Given the description of an element on the screen output the (x, y) to click on. 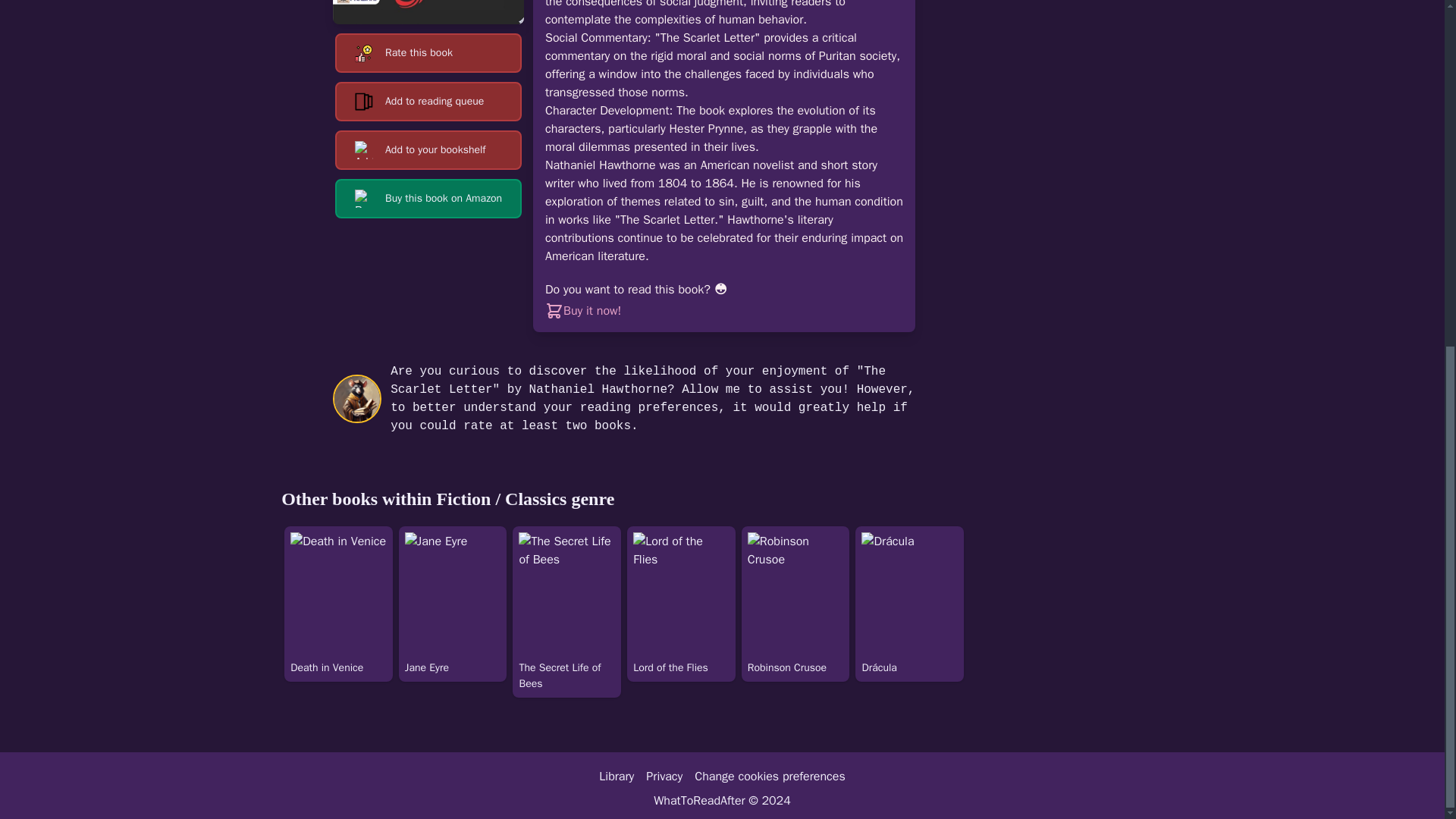
What to read after Jane Eyre (452, 611)
Buy a book The Scarlet Letter (592, 310)
Add this book to your bookshelf (427, 149)
Lord of the Flies (681, 611)
Buy this book on Amazon (427, 198)
Death in Venice (338, 611)
What to read after Death in Venice (338, 611)
Buy The Scarlet Letter on Amazon (427, 198)
Jane Eyre (452, 611)
What to read after The Secret Life of Bees (566, 611)
Death in Venice (338, 592)
Add to your bookshelf (427, 149)
Change cookies preferences (769, 776)
Rate this book (427, 52)
Add to reading queue (427, 101)
